Given the description of an element on the screen output the (x, y) to click on. 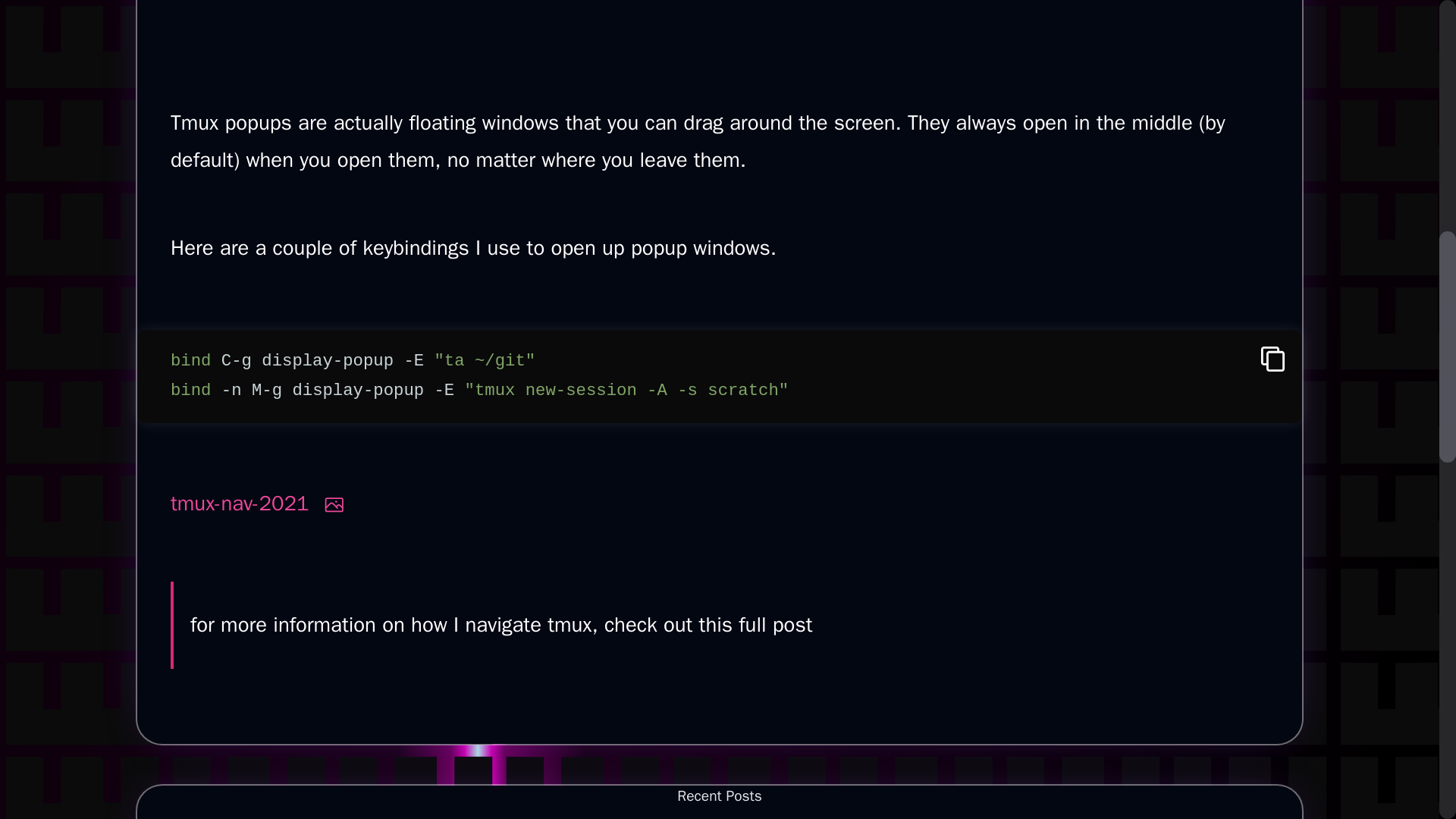
tmux-nav-2021 (239, 503)
tmux-nav-2021 (719, 10)
copy code to clipboard (239, 503)
